Given the description of an element on the screen output the (x, y) to click on. 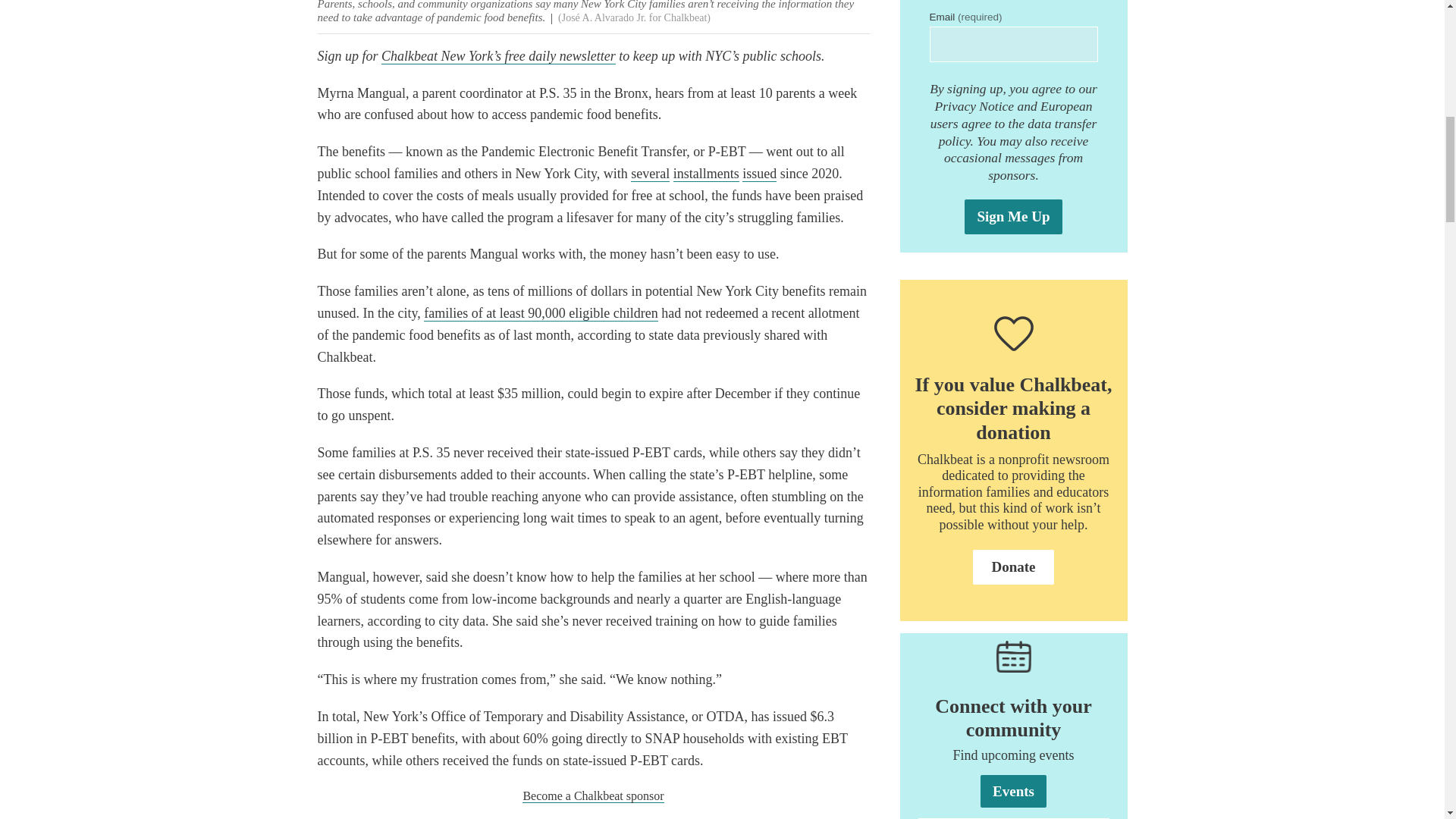
several (649, 173)
families of at least 90,000 eligible children (540, 313)
installments (705, 173)
issued (759, 173)
Become a Chalkbeat sponsor (592, 796)
